Given the description of an element on the screen output the (x, y) to click on. 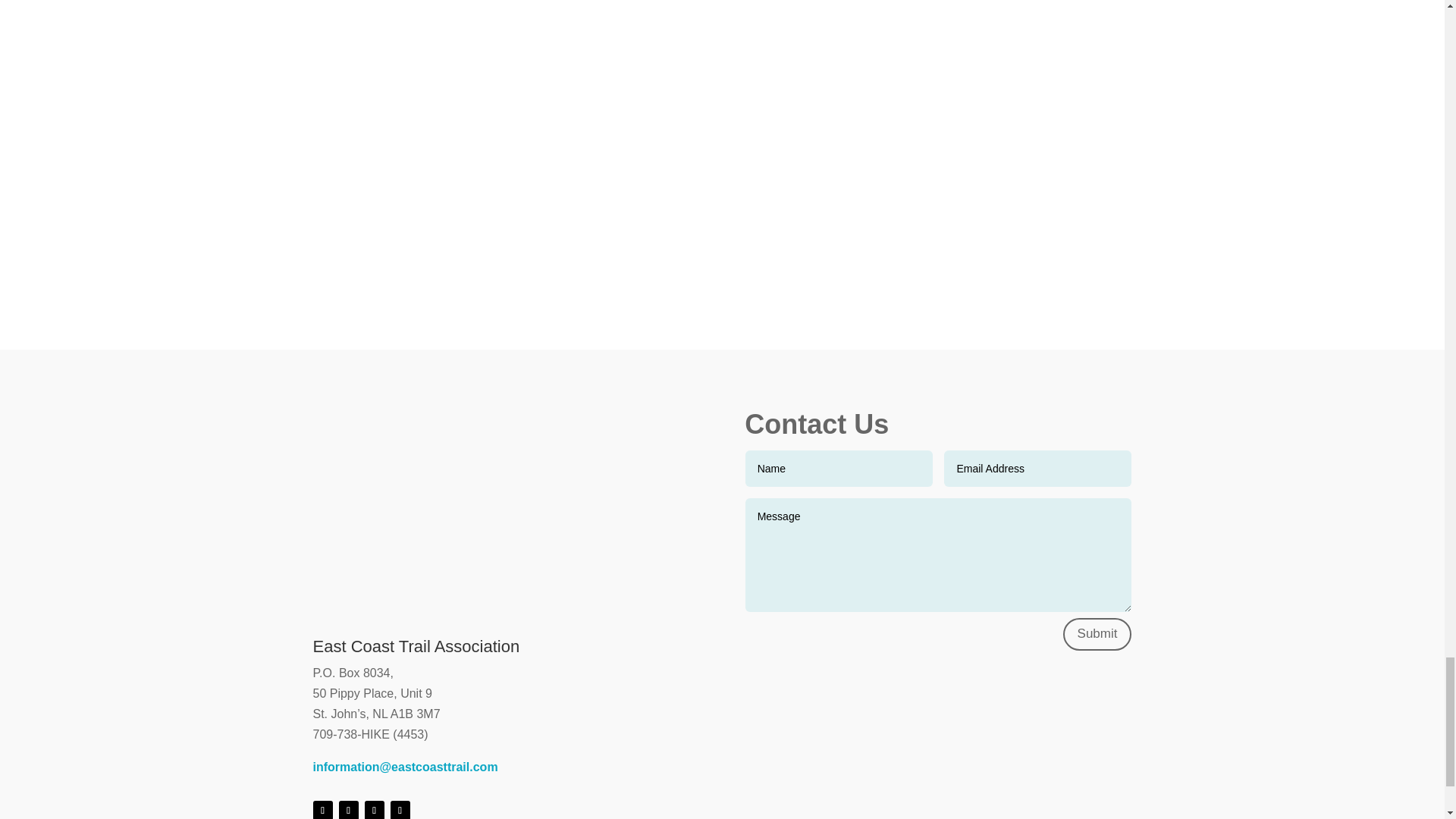
Follow on Twitter (347, 809)
Follow on LinkedIn (399, 809)
Follow on Facebook (322, 809)
Follow on Instagram (374, 809)
